Given the description of an element on the screen output the (x, y) to click on. 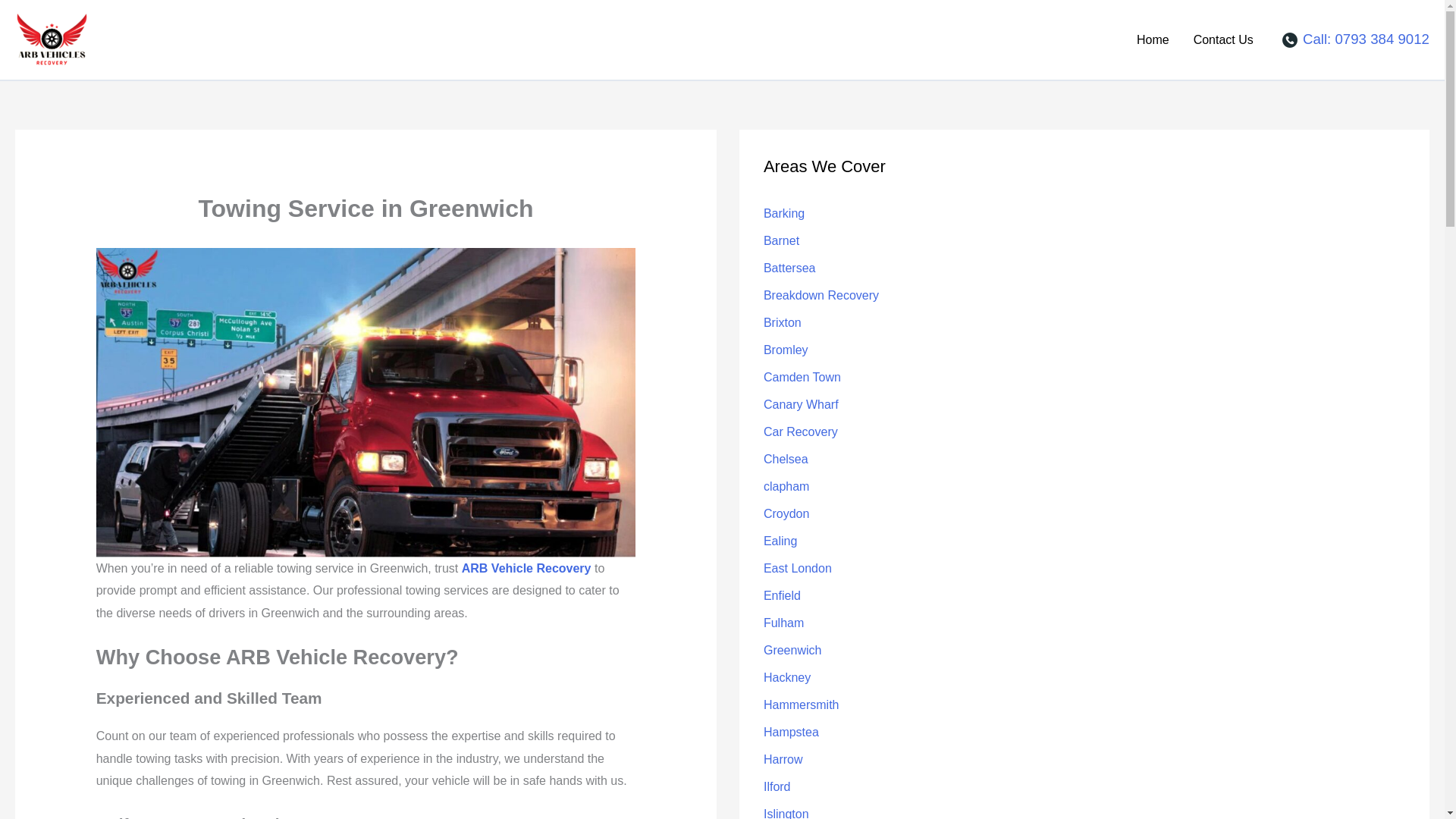
Barking (783, 213)
Car Recovery (800, 431)
Ealing (779, 540)
Contact Us (1222, 39)
Canary Wharf (800, 404)
clapham (785, 486)
Fulham (782, 622)
East London (796, 567)
Home (1152, 39)
Brixton (782, 322)
